Given the description of an element on the screen output the (x, y) to click on. 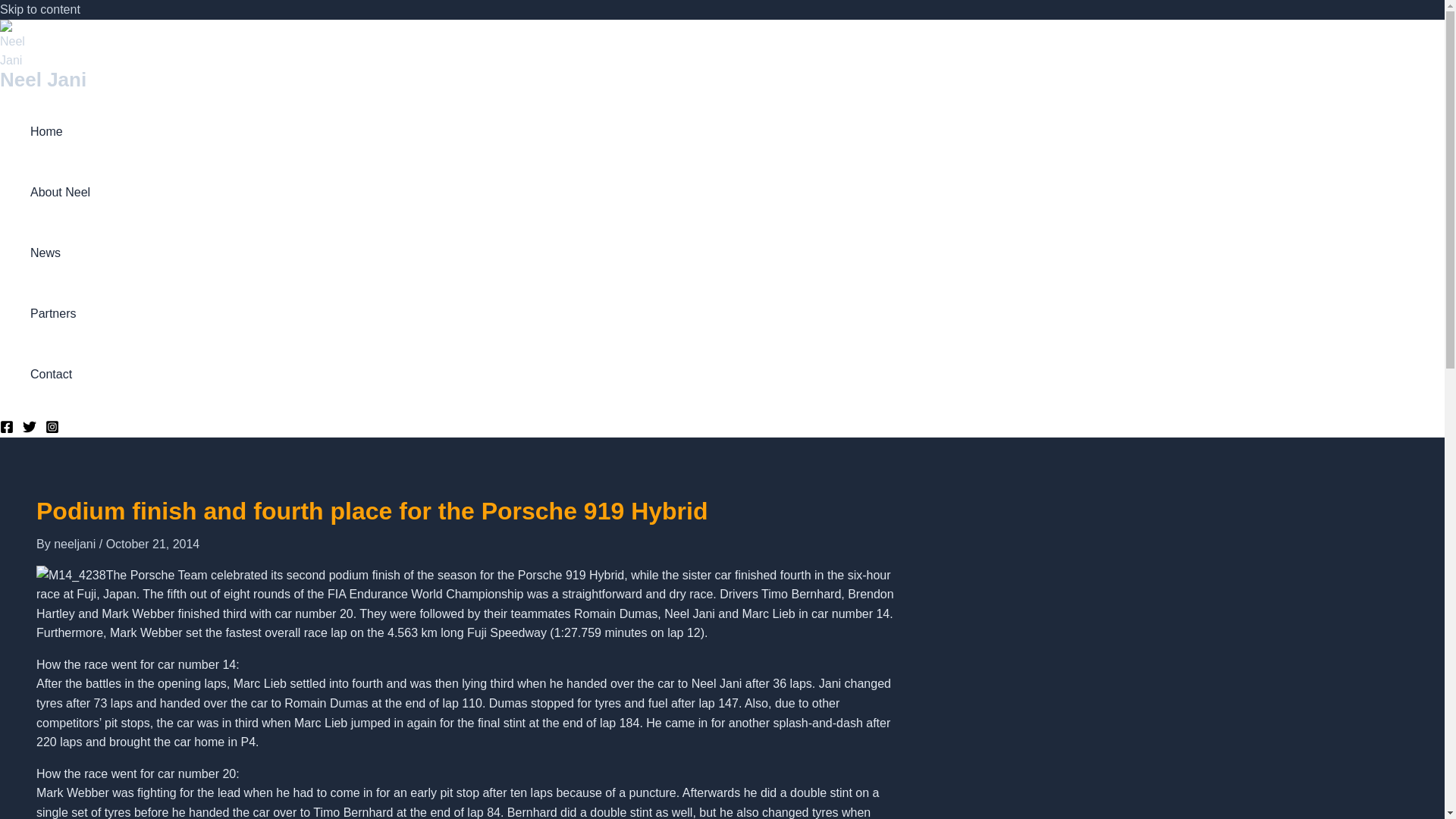
Home (60, 131)
About Neel (60, 192)
Neel Jani (42, 78)
Skip to content (40, 9)
Contact (60, 373)
neeljani (76, 543)
View all posts by neeljani (76, 543)
News (60, 252)
Skip to content (40, 9)
Partners (60, 313)
